Given the description of an element on the screen output the (x, y) to click on. 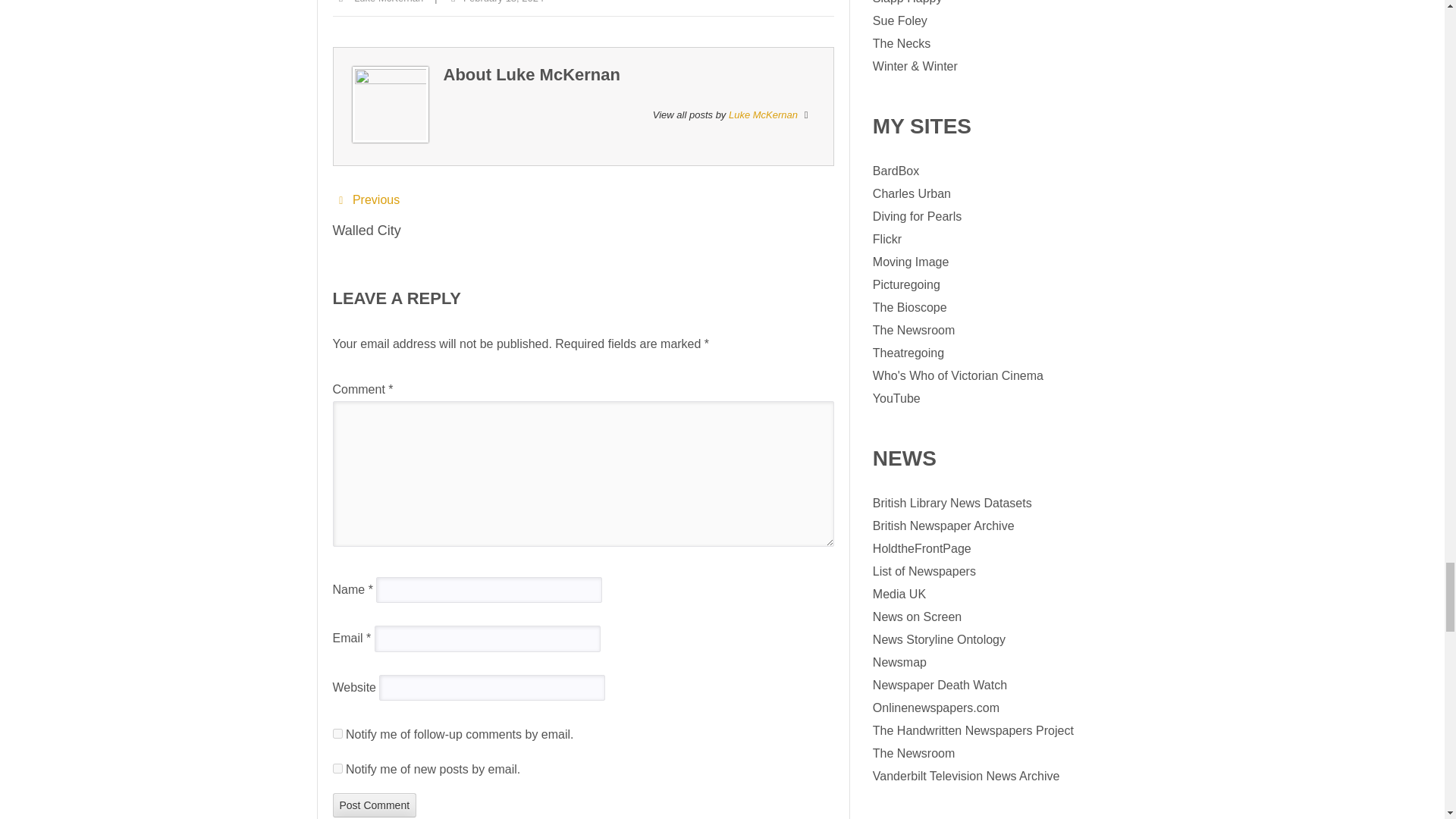
Post Comment (373, 805)
subscribe (336, 733)
Posts by Luke McKernan (763, 114)
subscribe (336, 768)
Posts by Luke McKernan (558, 74)
